Given the description of an element on the screen output the (x, y) to click on. 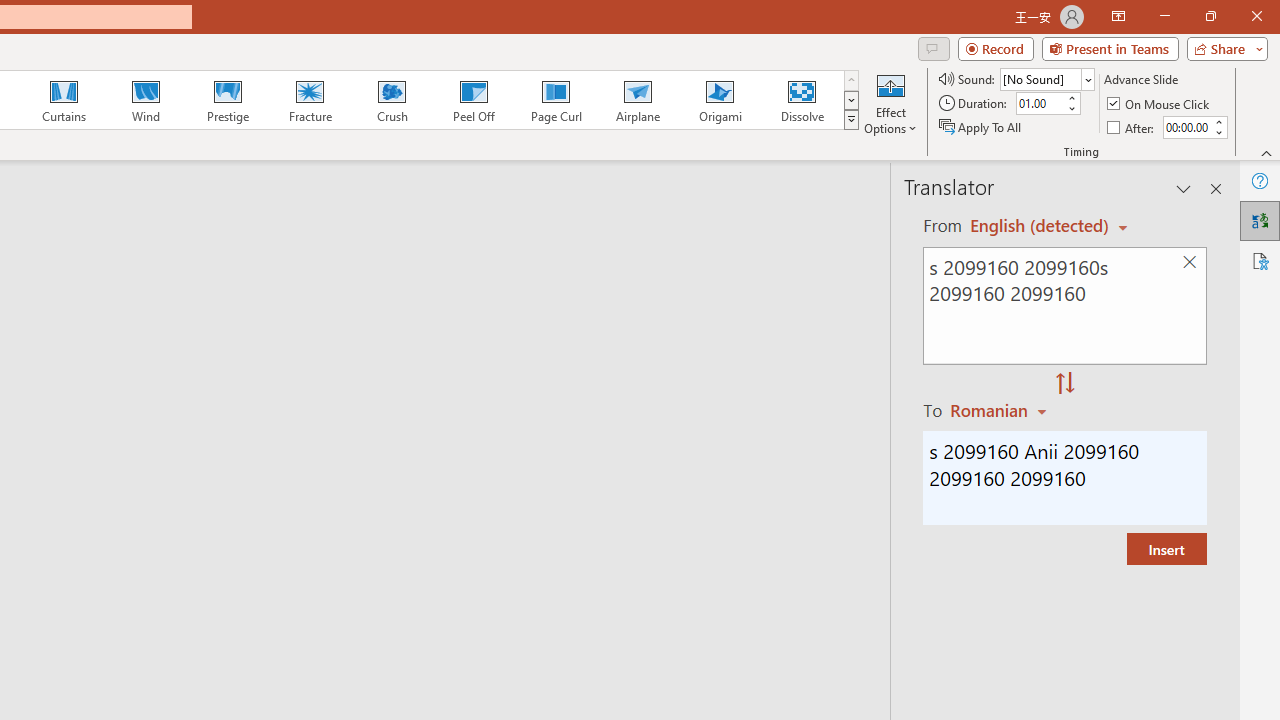
On Mouse Click (1159, 103)
Page Curl (555, 100)
Curtains (63, 100)
Dissolve (802, 100)
After (1131, 126)
Origami (719, 100)
